Given the description of an element on the screen output the (x, y) to click on. 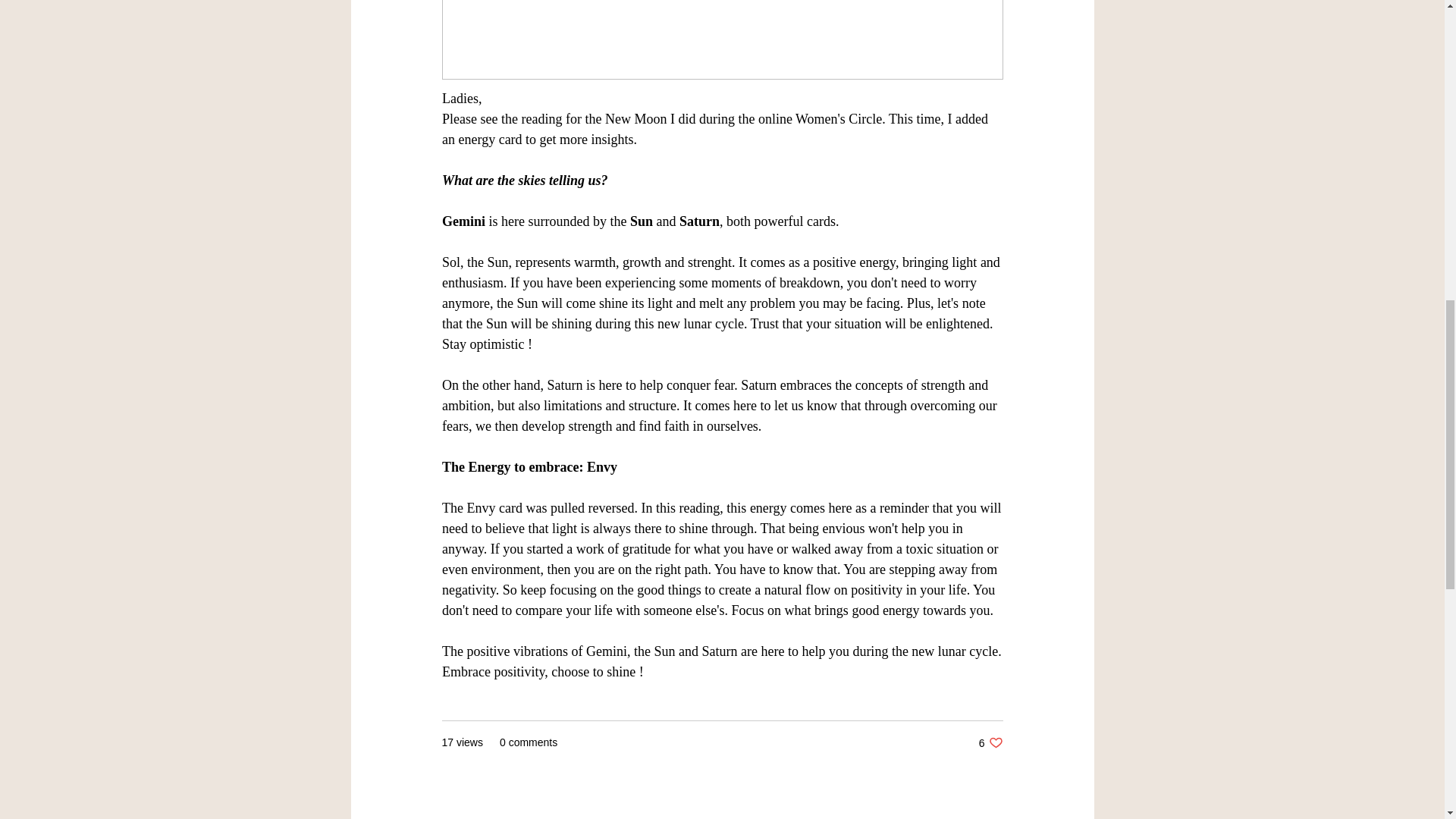
See All (1061, 816)
